Given the description of an element on the screen output the (x, y) to click on. 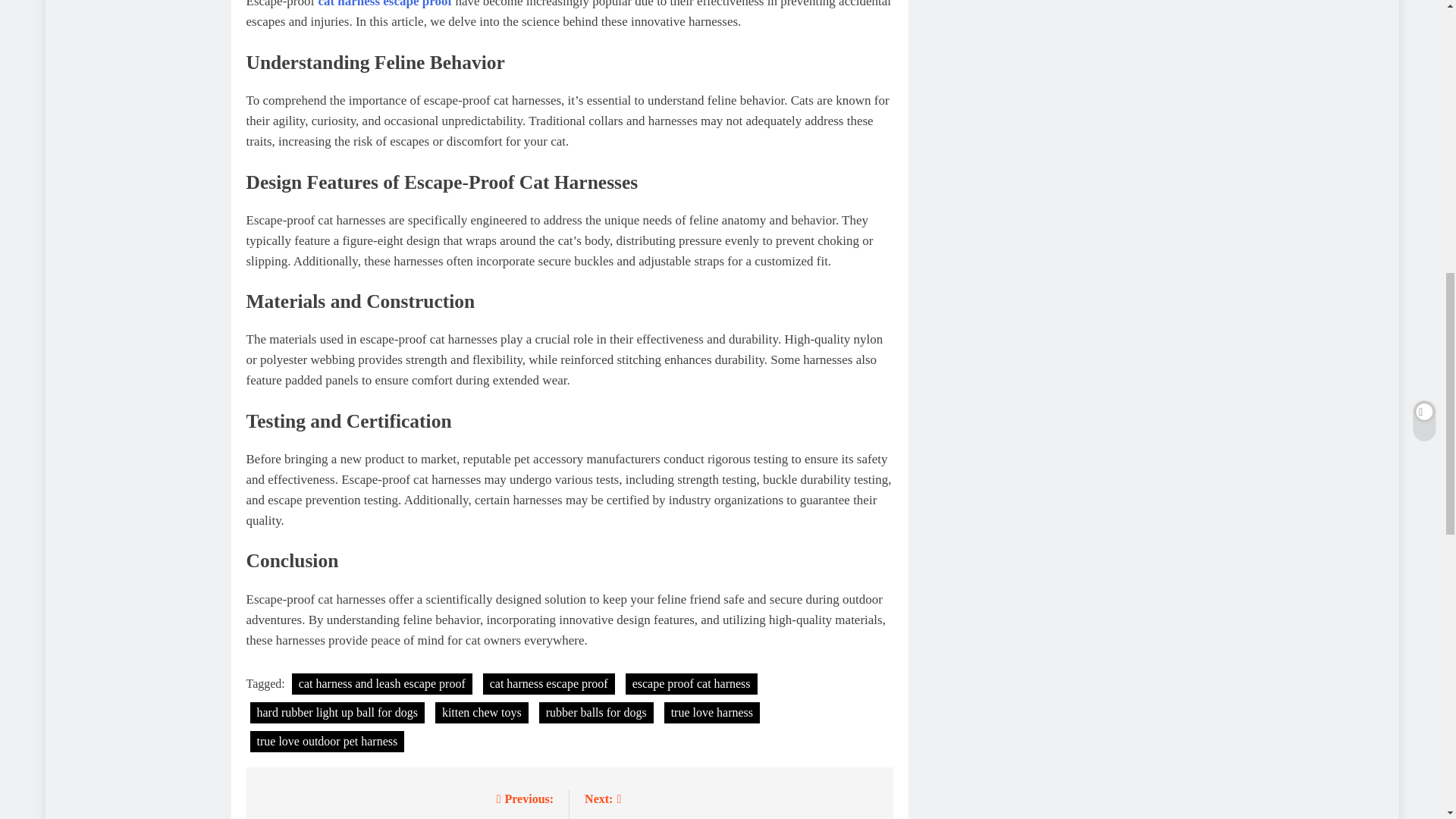
cat harness escape proof (384, 4)
kitten chew toys (481, 712)
cat harness and leash escape proof (381, 683)
true love outdoor pet harness (327, 741)
hard rubber light up ball for dogs (337, 712)
cat harness escape proof (548, 683)
escape proof cat harness (691, 683)
rubber balls for dogs (595, 712)
true love harness (711, 712)
